Given the description of an element on the screen output the (x, y) to click on. 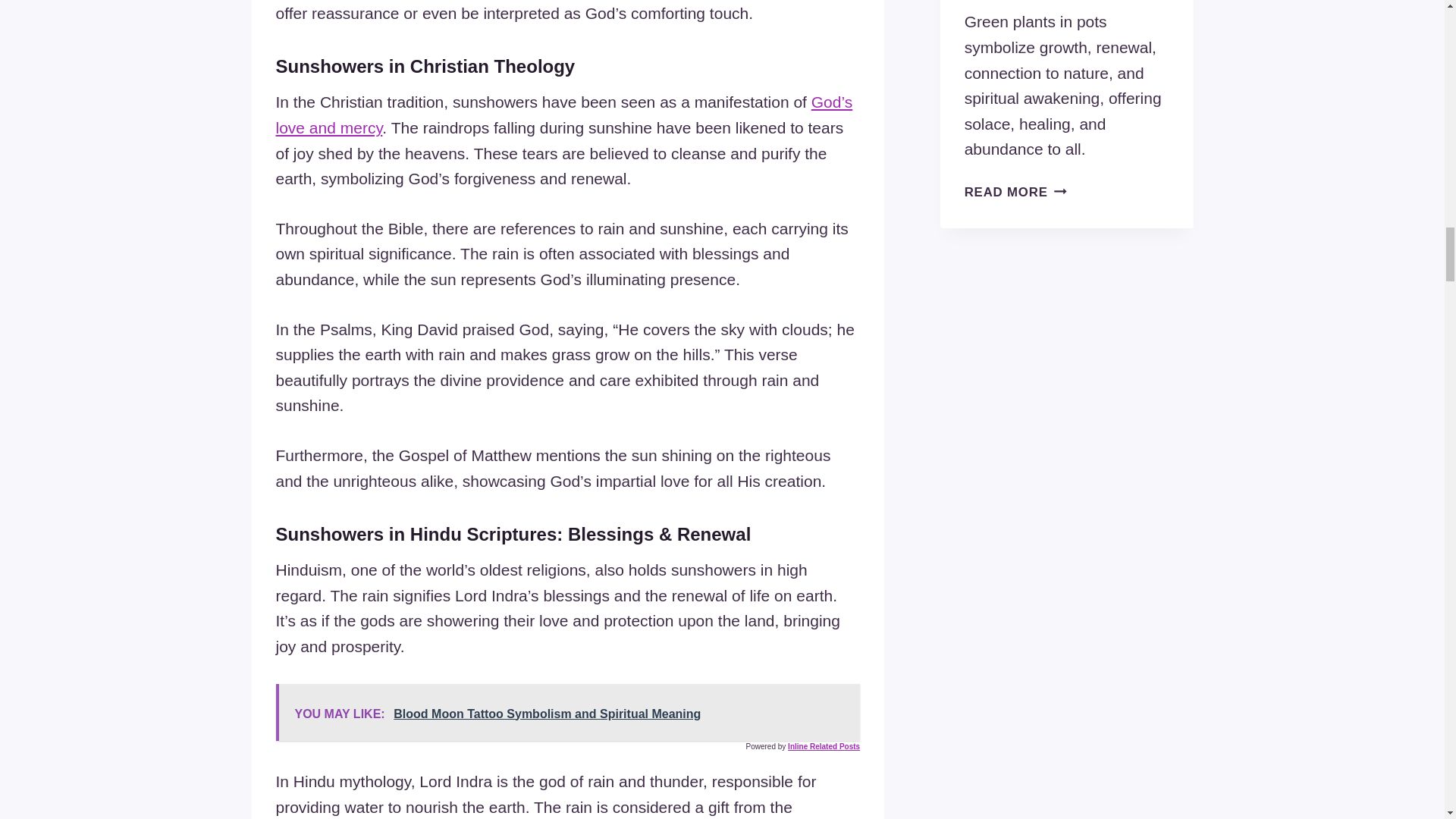
Inline Related Posts (823, 746)
